Given the description of an element on the screen output the (x, y) to click on. 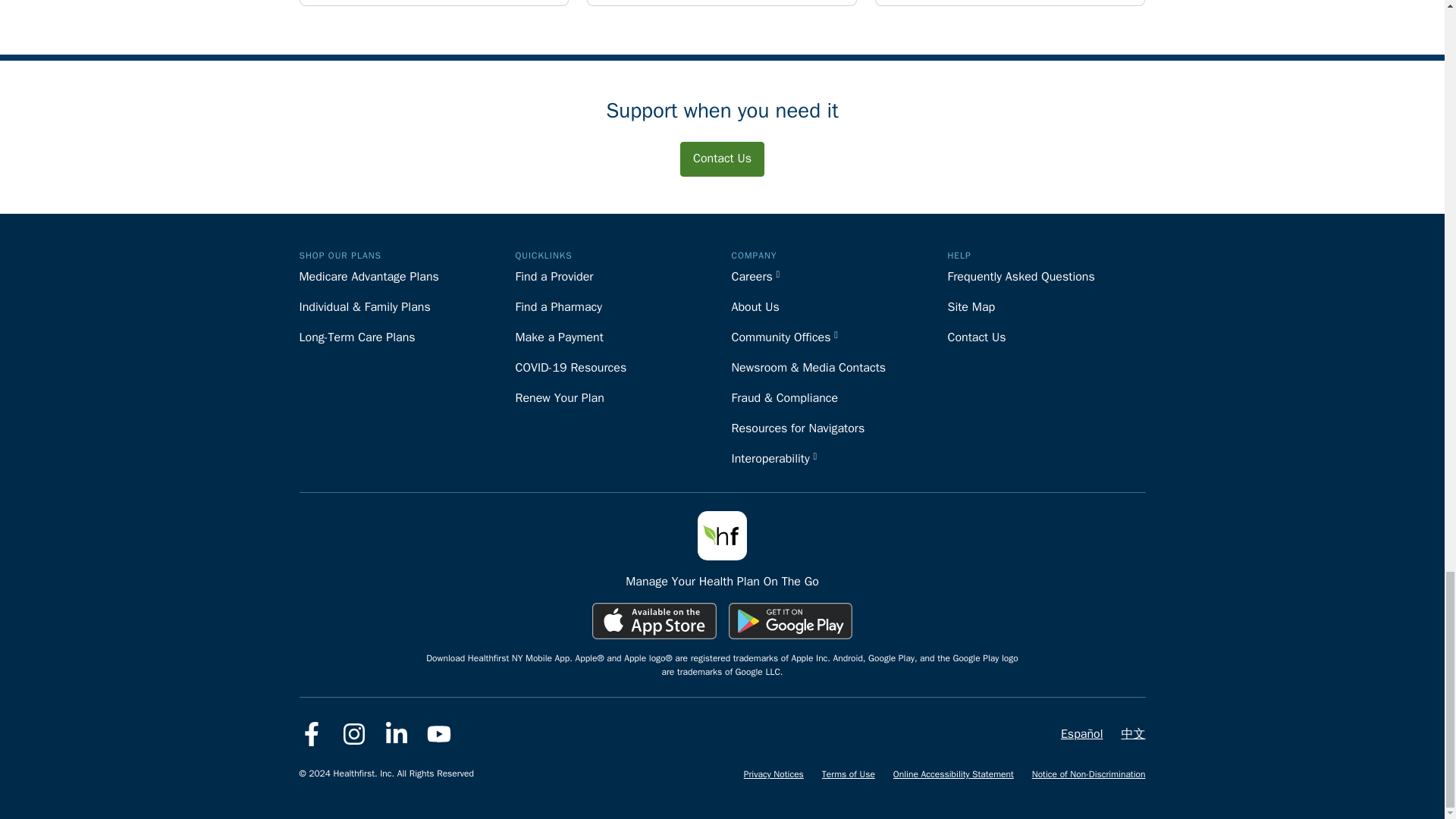
Contact Us (721, 158)
